Given the description of an element on the screen output the (x, y) to click on. 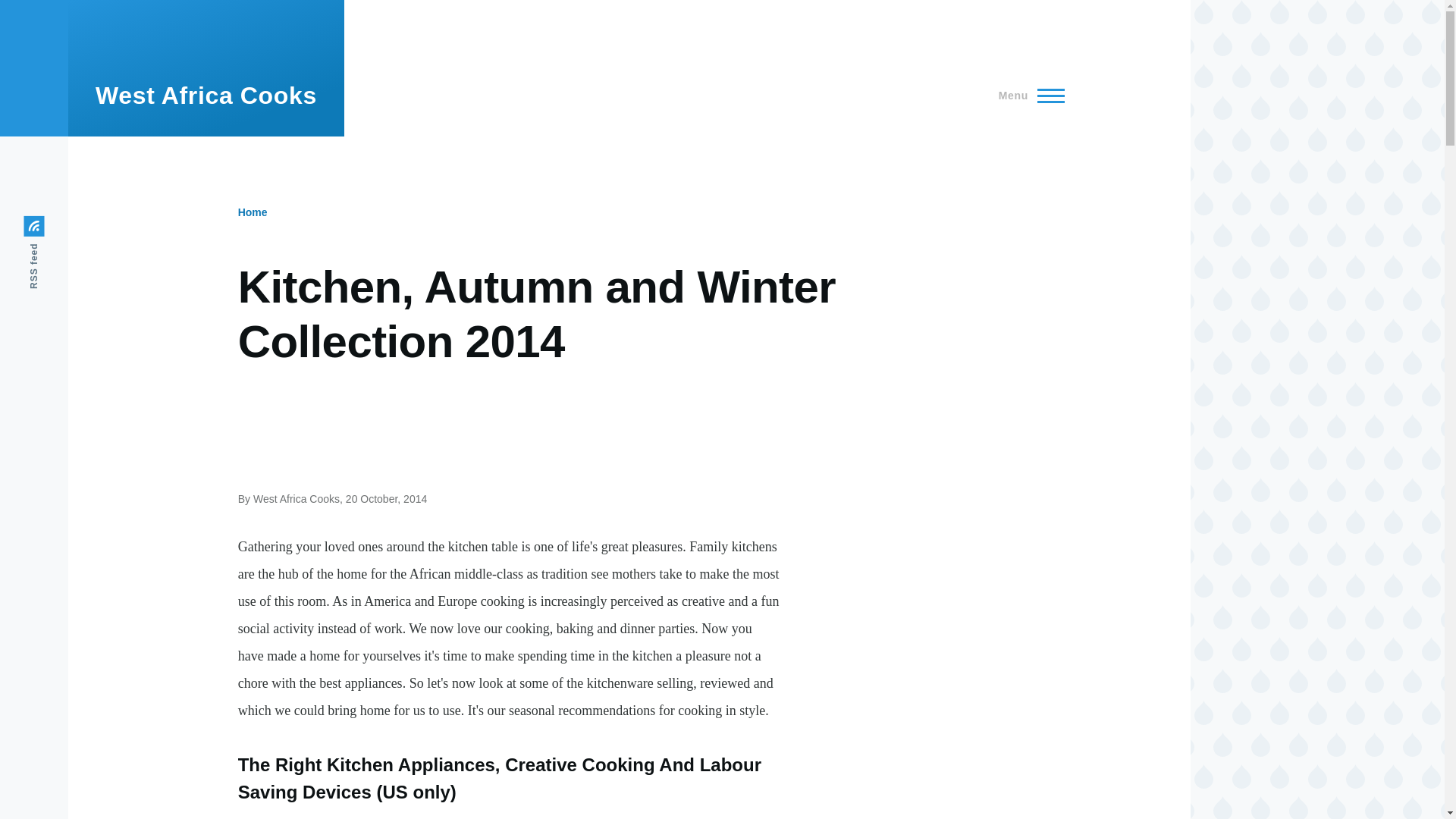
Home (206, 94)
West Africa Cooks (206, 94)
Menu (1026, 94)
Skip to main content (595, 6)
